Given the description of an element on the screen output the (x, y) to click on. 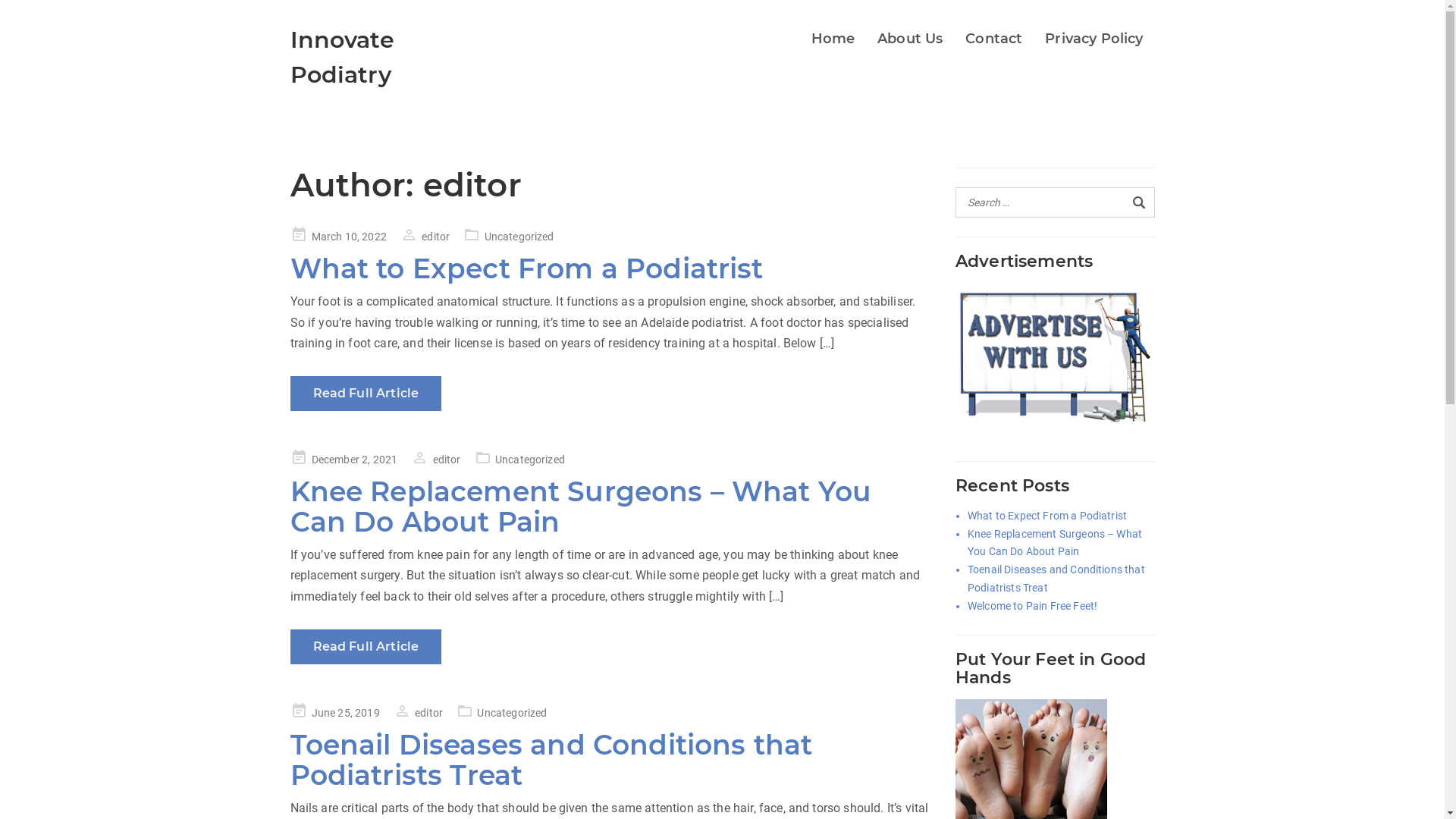
editor Element type: text (435, 459)
March 10, 2022 Element type: text (337, 236)
Uncategorized Element type: text (529, 459)
Uncategorized Element type: text (511, 712)
editor Element type: text (417, 712)
Contact Element type: text (993, 38)
Toenail Diseases and Conditions that Podiatrists Treat Element type: text (1060, 579)
Privacy Policy Element type: text (1093, 38)
What to Expect From a Podiatrist Element type: text (1046, 516)
December 2, 2021 Element type: text (343, 459)
Read Full Article Element type: text (365, 646)
Toenail Diseases and Conditions that Podiatrists Treat Element type: text (550, 759)
About Us Element type: text (909, 38)
Read Full Article Element type: text (365, 393)
Innovate Podiatry Element type: text (341, 56)
Home Element type: text (833, 38)
What to Expect From a Podiatrist Element type: text (525, 268)
editor Element type: text (424, 236)
June 25, 2019 Element type: text (334, 712)
Welcome to Pain Free Feet! Element type: text (1032, 606)
Uncategorized Element type: text (519, 236)
